Given the description of an element on the screen output the (x, y) to click on. 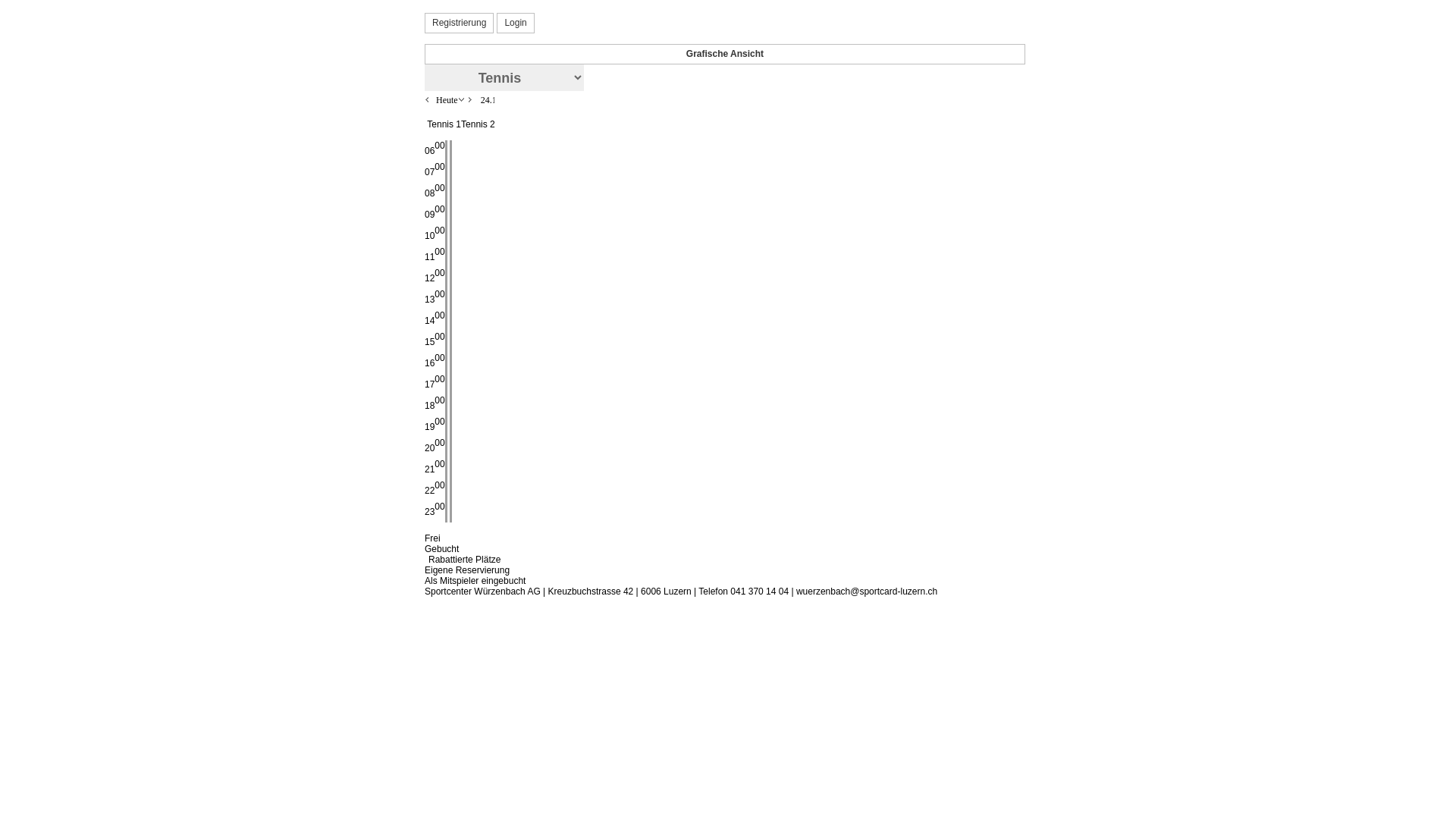
Heute Element type: text (447, 99)
